Given the description of an element on the screen output the (x, y) to click on. 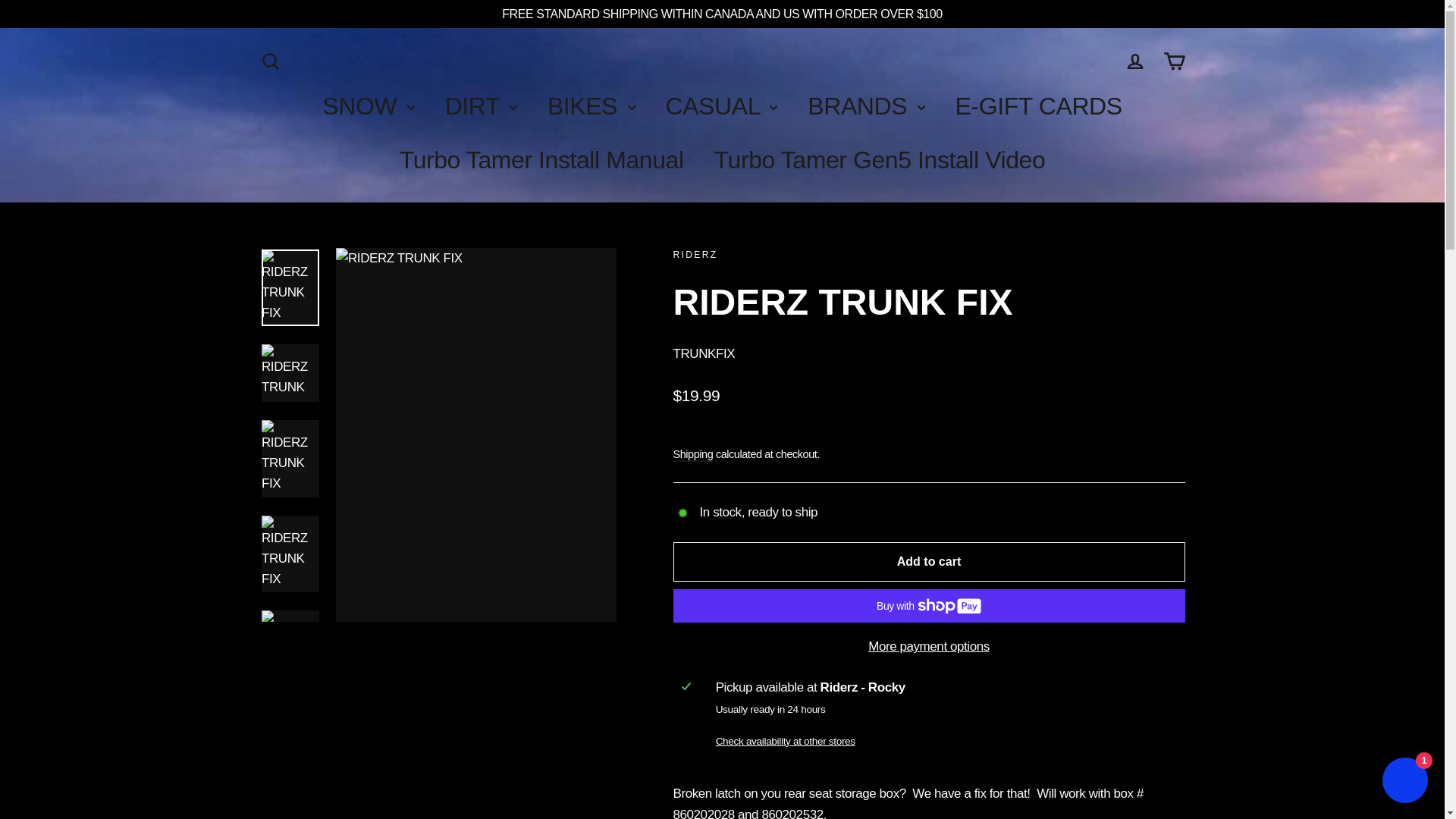
Riderz (694, 254)
Shopify online store chat (1404, 781)
